Given the description of an element on the screen output the (x, y) to click on. 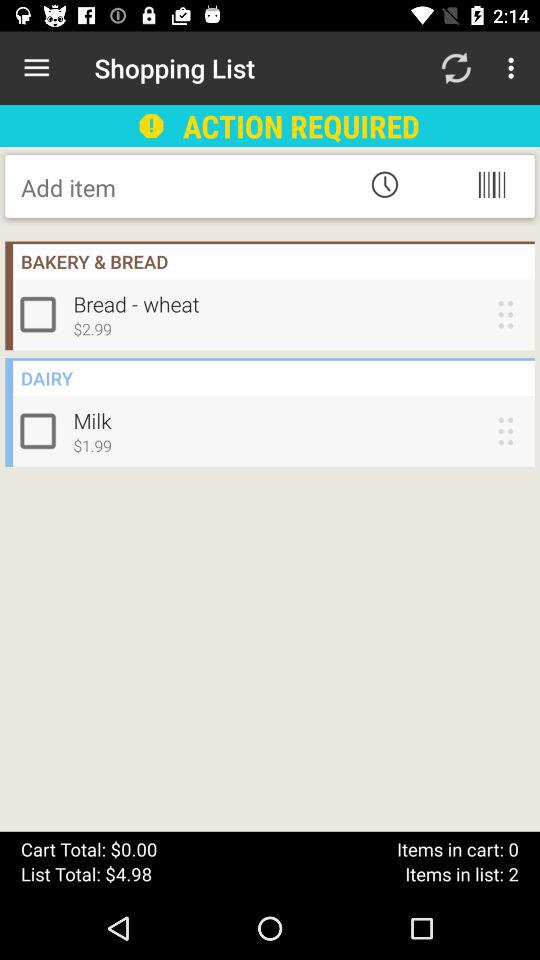
enter item name (181, 187)
